Given the description of an element on the screen output the (x, y) to click on. 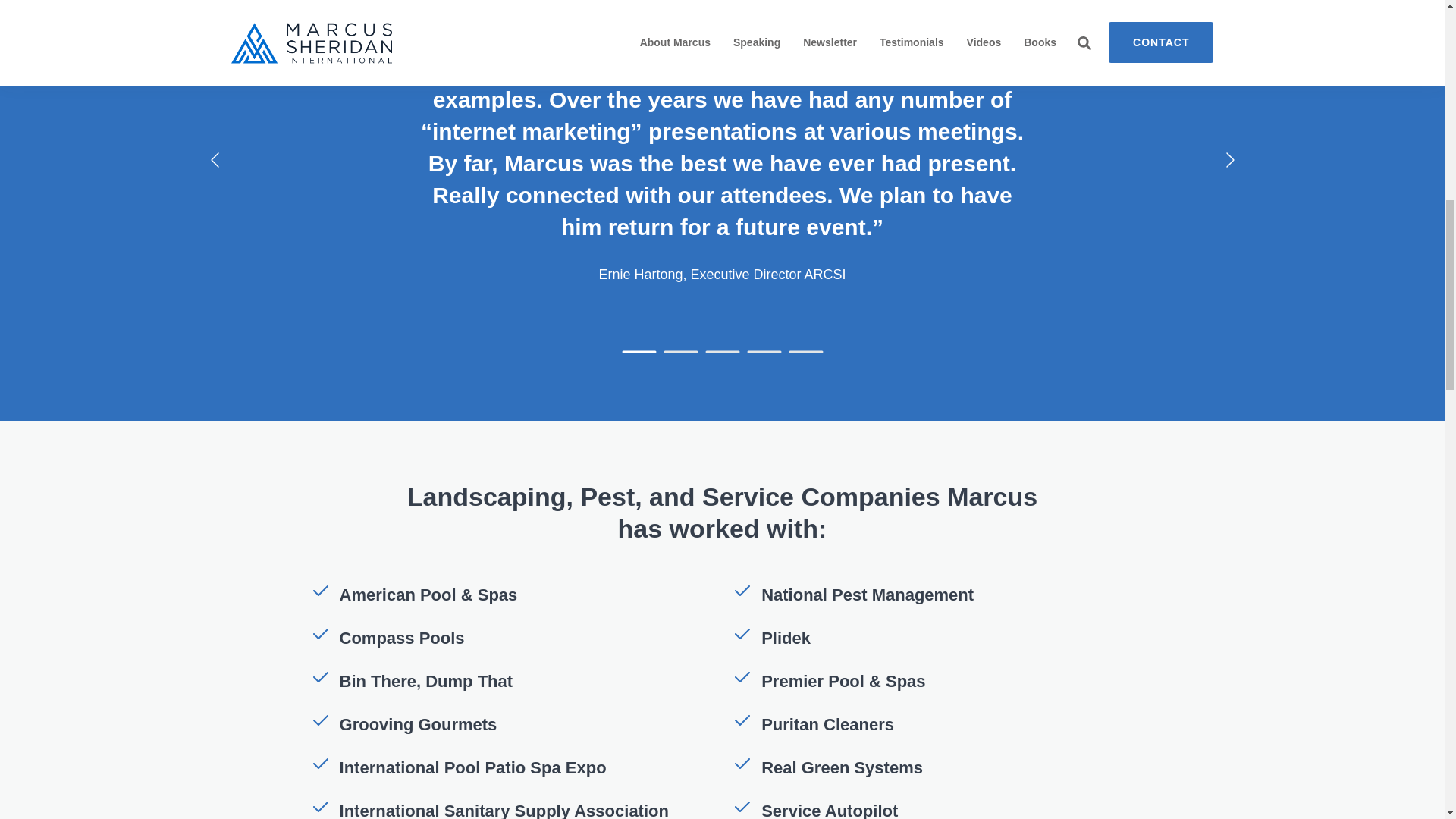
Next slide (1227, 159)
Previous slide (214, 159)
